Given the description of an element on the screen output the (x, y) to click on. 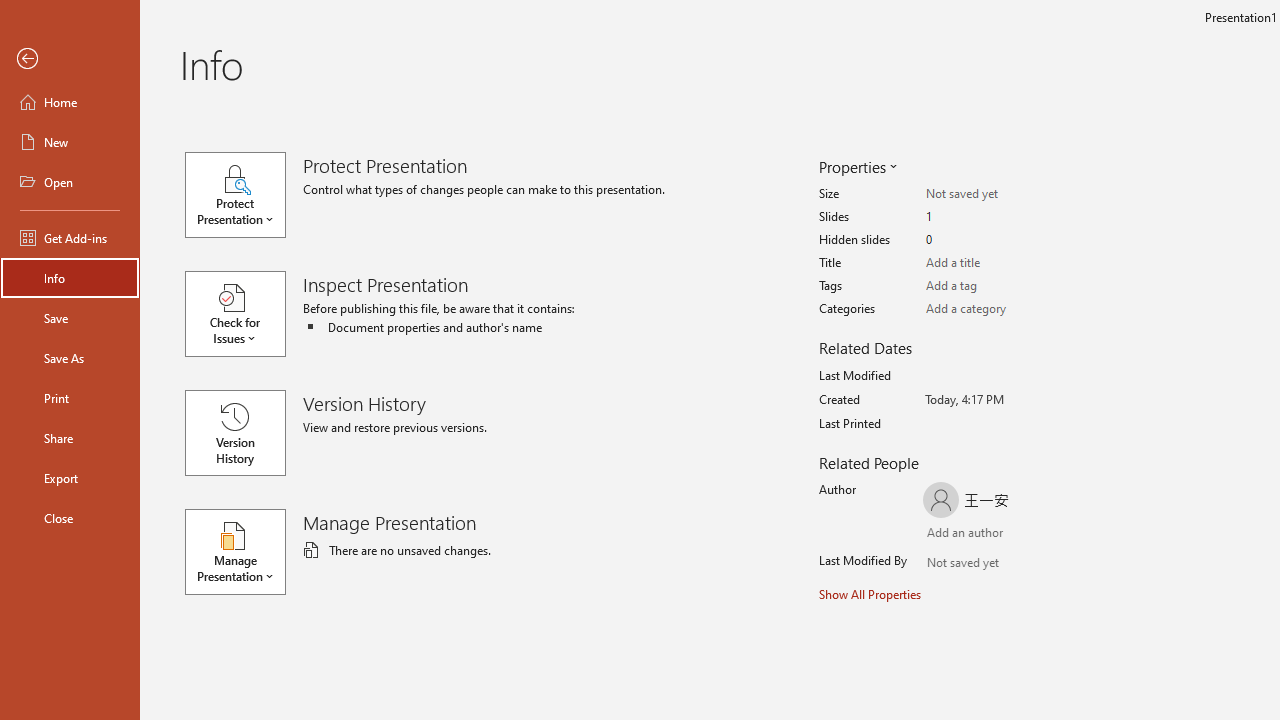
Not saved yet (946, 565)
New (69, 141)
Info (69, 277)
Back (69, 59)
Verify Names (983, 565)
Browse Address Book (1047, 564)
Hidden slides (1003, 240)
Add an author (946, 534)
Save As (69, 357)
Slides (1003, 217)
